Given the description of an element on the screen output the (x, y) to click on. 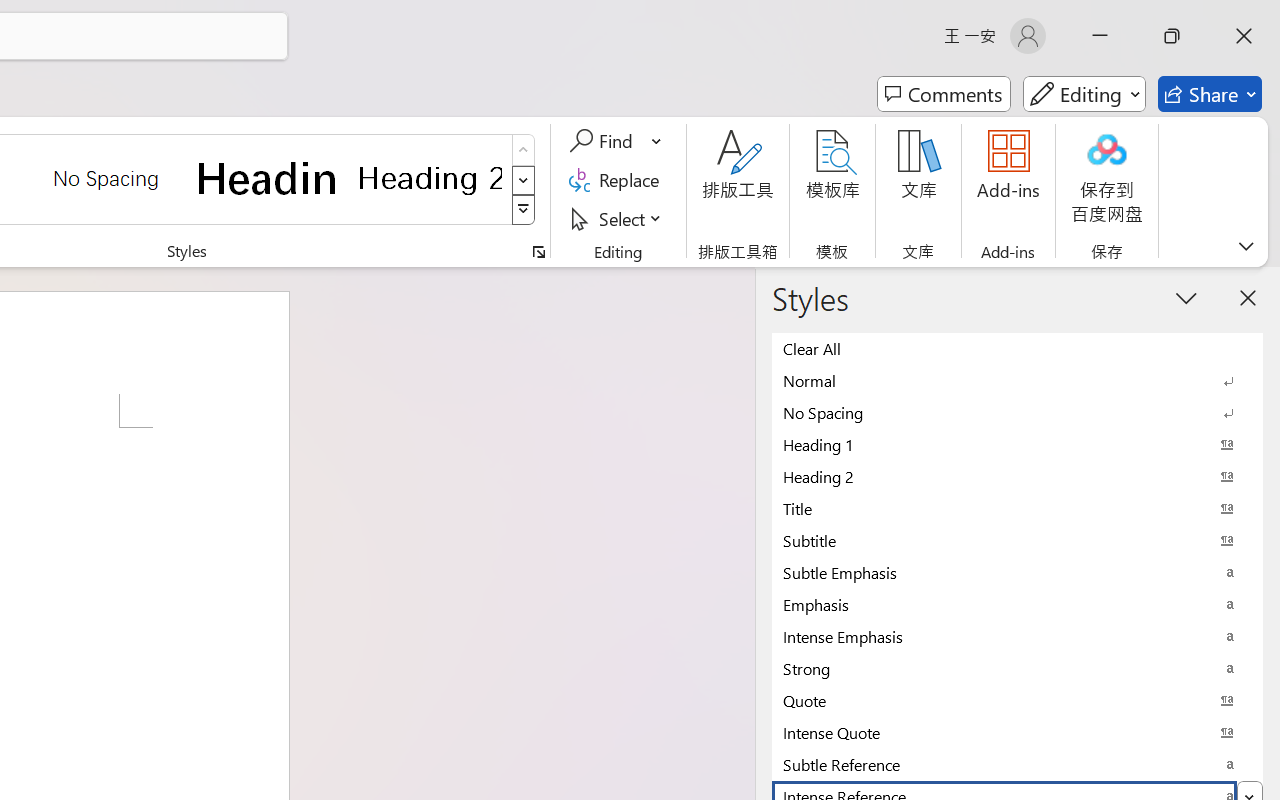
Title (1017, 508)
No Spacing (1017, 412)
